Given the description of an element on the screen output the (x, y) to click on. 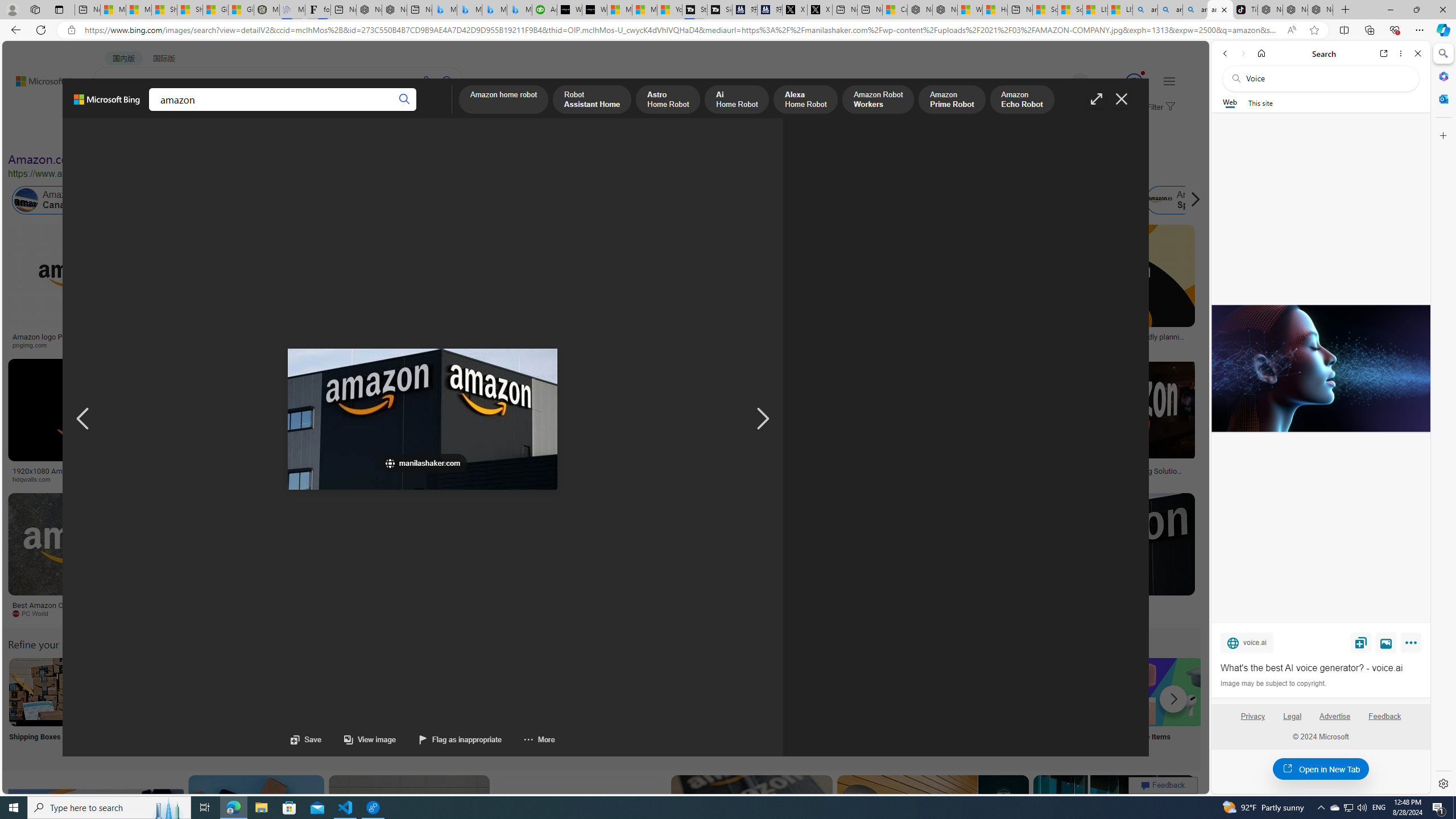
More options (1401, 53)
favicon (389, 463)
Layout (253, 135)
Amazon Wish List (568, 691)
AutomationID: navr (762, 418)
More (1413, 644)
What's the best AI voice generator? - voice.ai (1320, 368)
favicon manilashaker.com (422, 462)
Settings and quick links (1168, 80)
Best Amazon Cyber Monday deals 2019 | PCWorld (82, 608)
pngimg.com (34, 344)
Privacy (1252, 720)
